Given the description of an element on the screen output the (x, y) to click on. 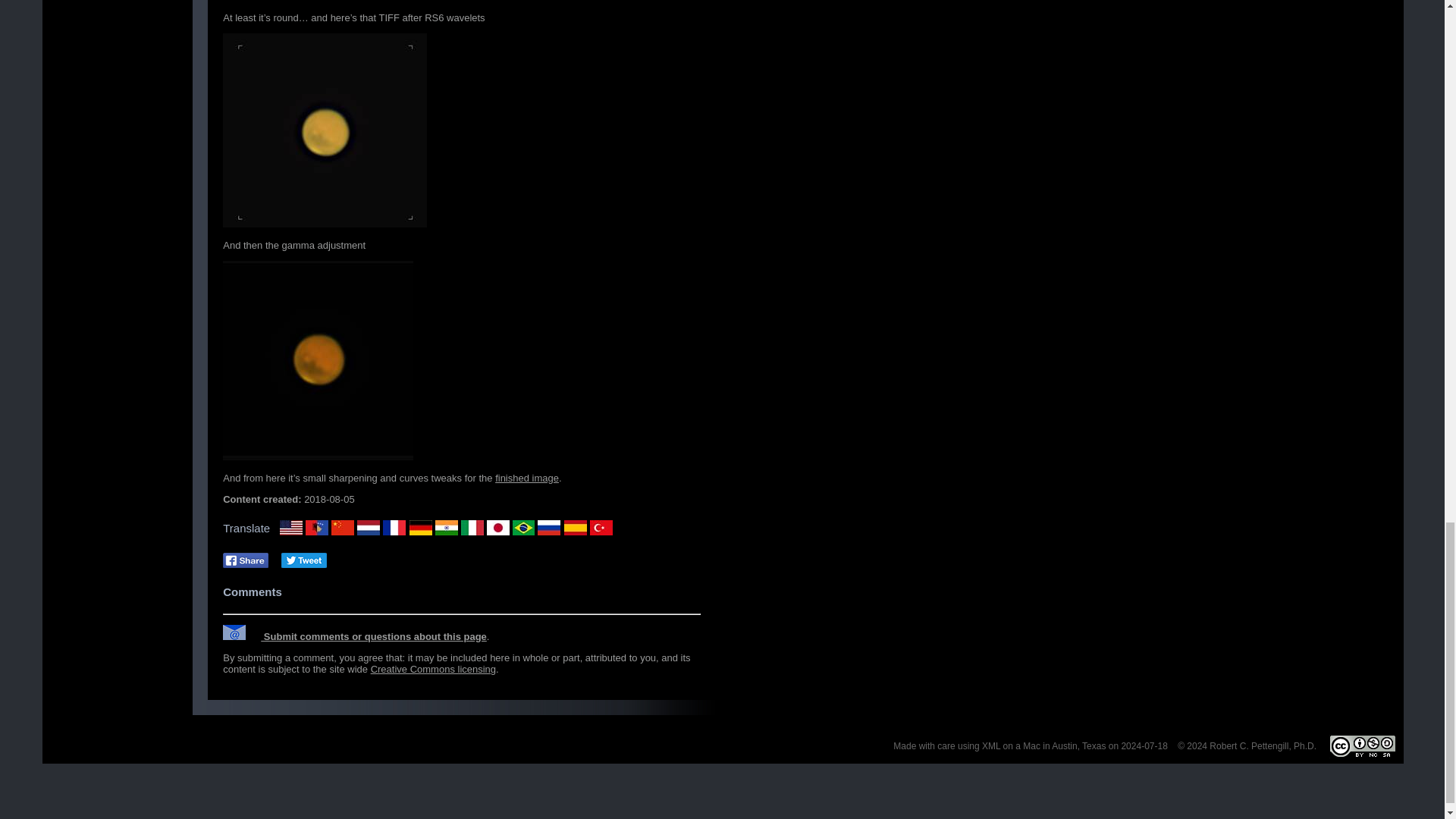
Share on Facebook (244, 560)
Gamma adjusted Mars (317, 360)
automatic Spanish translation (575, 527)
automatic French translation (394, 527)
original American English (290, 527)
Mars with wavelet sharpening (324, 130)
automatic Japanese translation (497, 527)
automatic Turkish translation (600, 527)
automatic Russian translation (548, 527)
automatic Hindi translation (446, 527)
Tweet on Twitter (303, 560)
automatic Dutch translation (368, 527)
automatic Albanian translation (317, 527)
automatic German translation (420, 527)
automatic Chinese translation (342, 527)
